Given the description of an element on the screen output the (x, y) to click on. 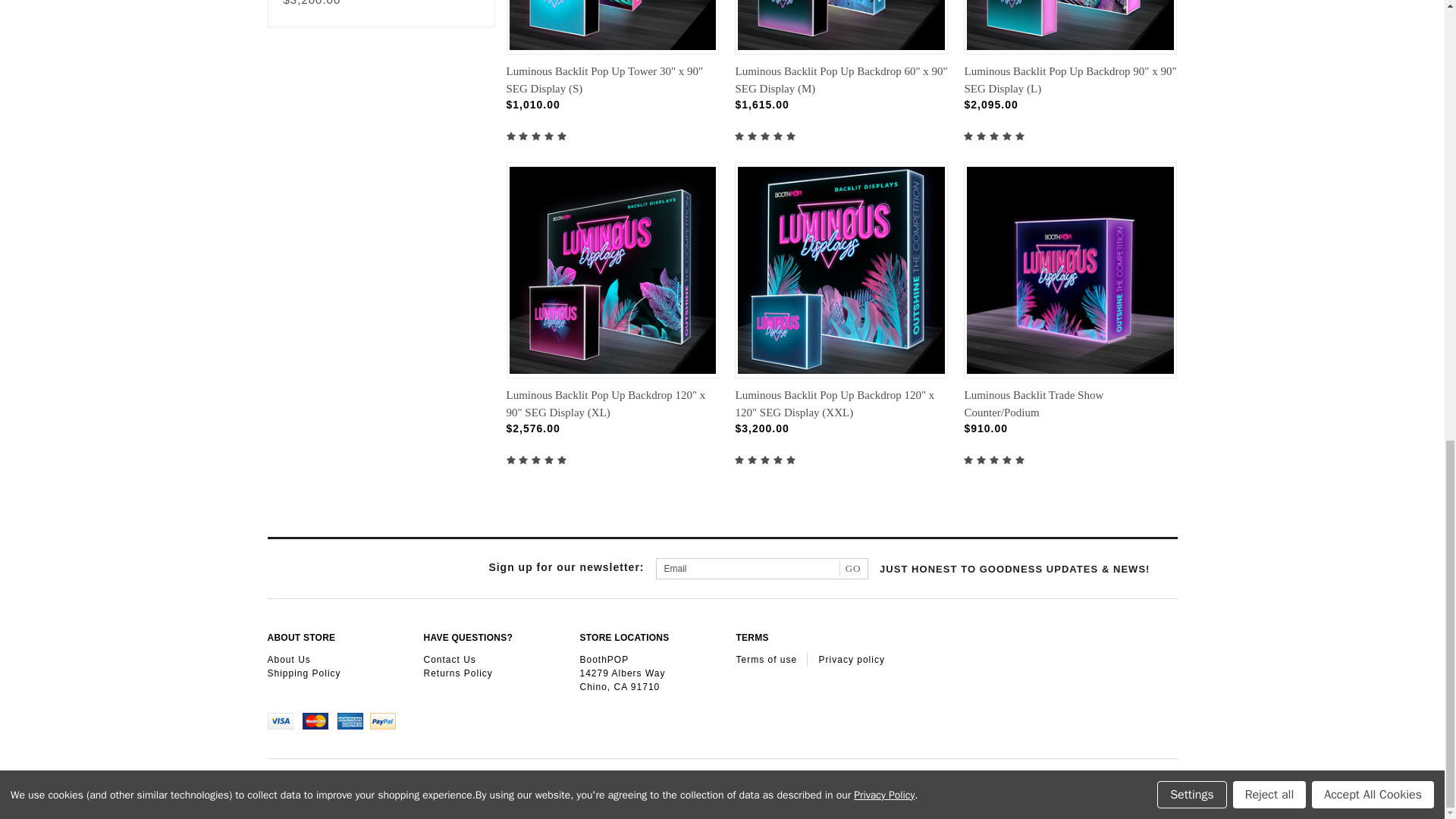
Visa (283, 719)
Master Card (319, 719)
GO (853, 568)
Express (353, 719)
Paypal (385, 719)
